Given the description of an element on the screen output the (x, y) to click on. 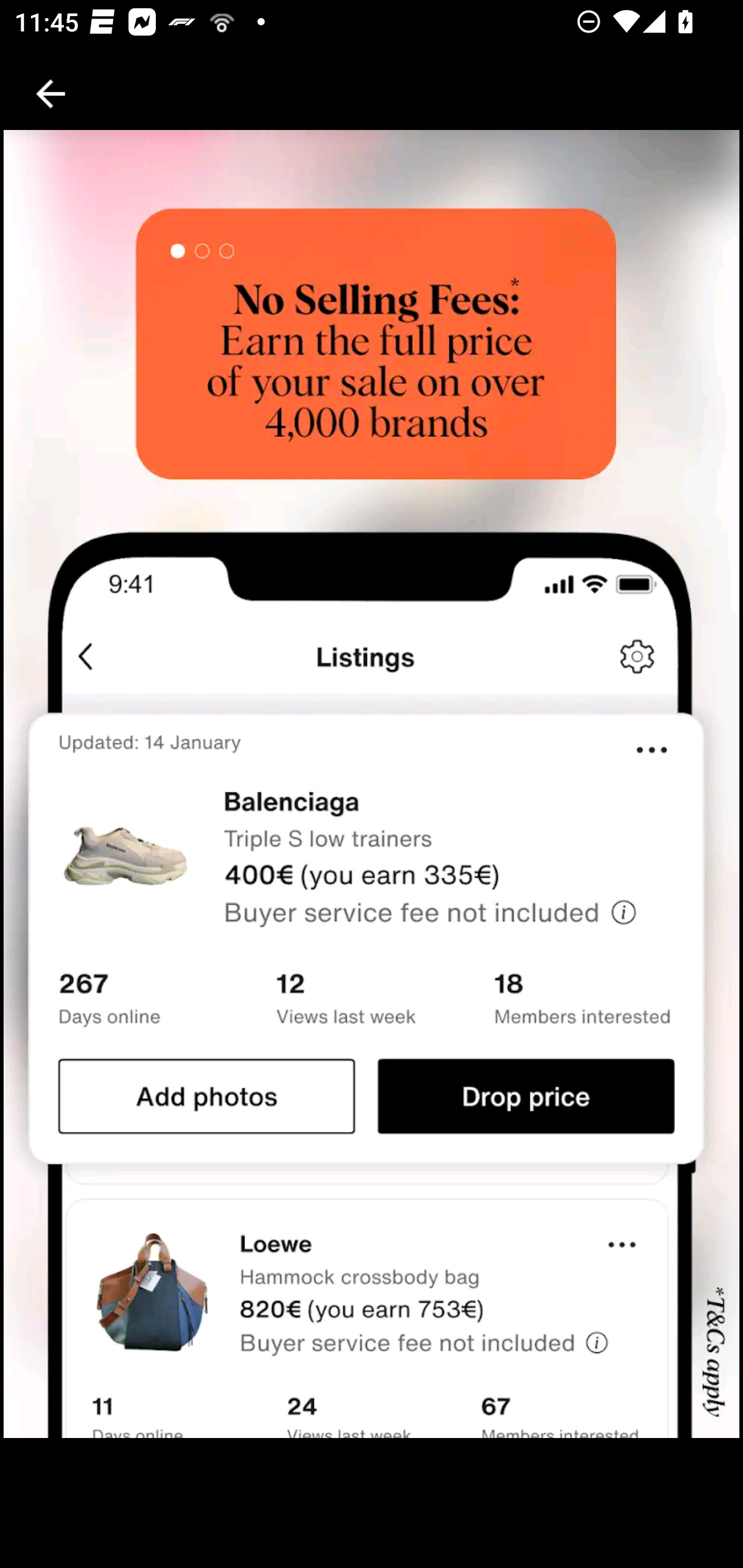
Back (50, 93)
